Given the description of an element on the screen output the (x, y) to click on. 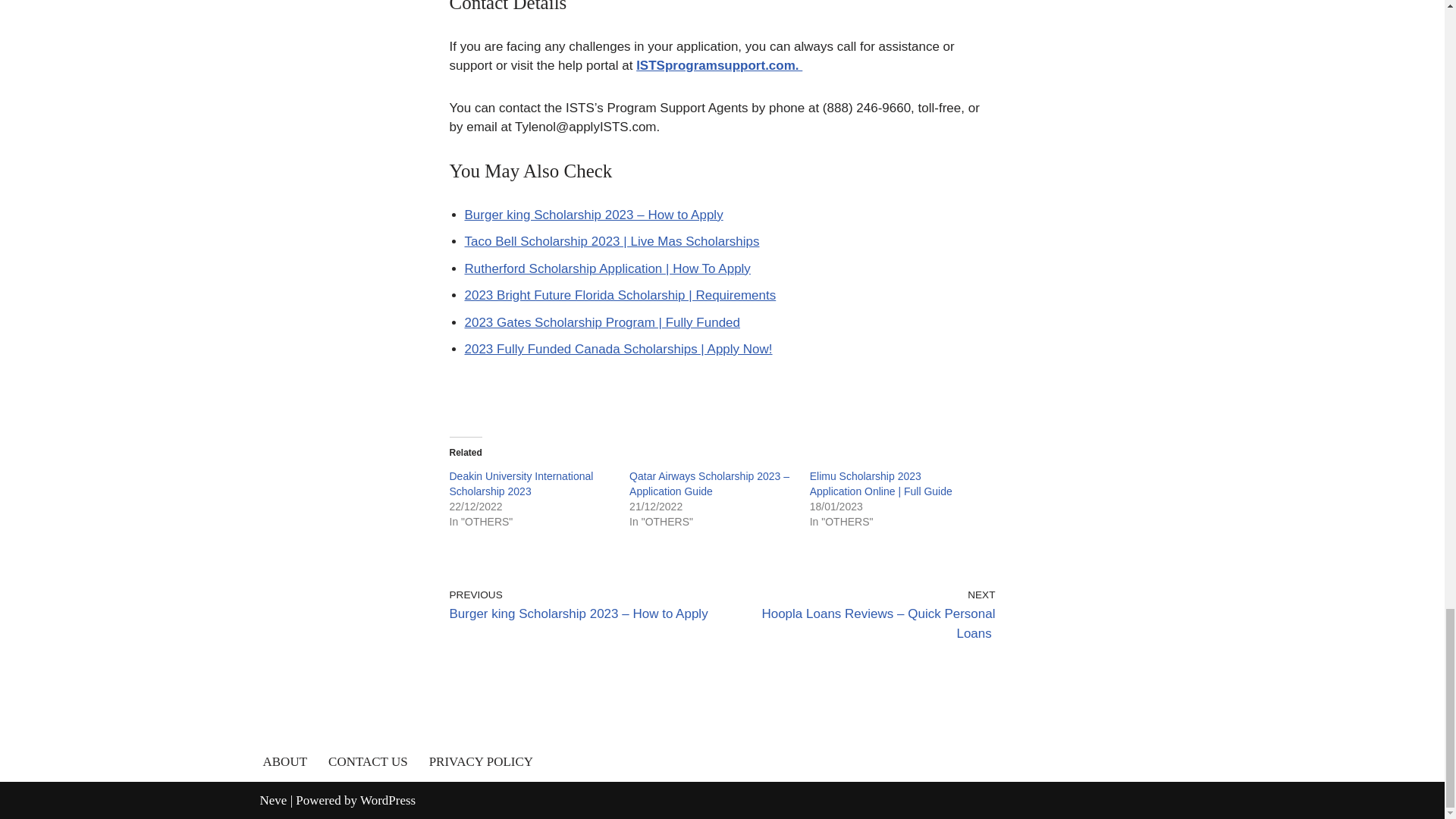
Deakin University International Scholarship 2023 (520, 483)
Deakin University International Scholarship 2023 (520, 483)
PRIVACY POLICY (480, 761)
CONTACT US (368, 761)
WordPress (386, 800)
ABOUT (284, 761)
Neve (272, 800)
ISTSprogramsupport.com.  (719, 65)
